Given the description of an element on the screen output the (x, y) to click on. 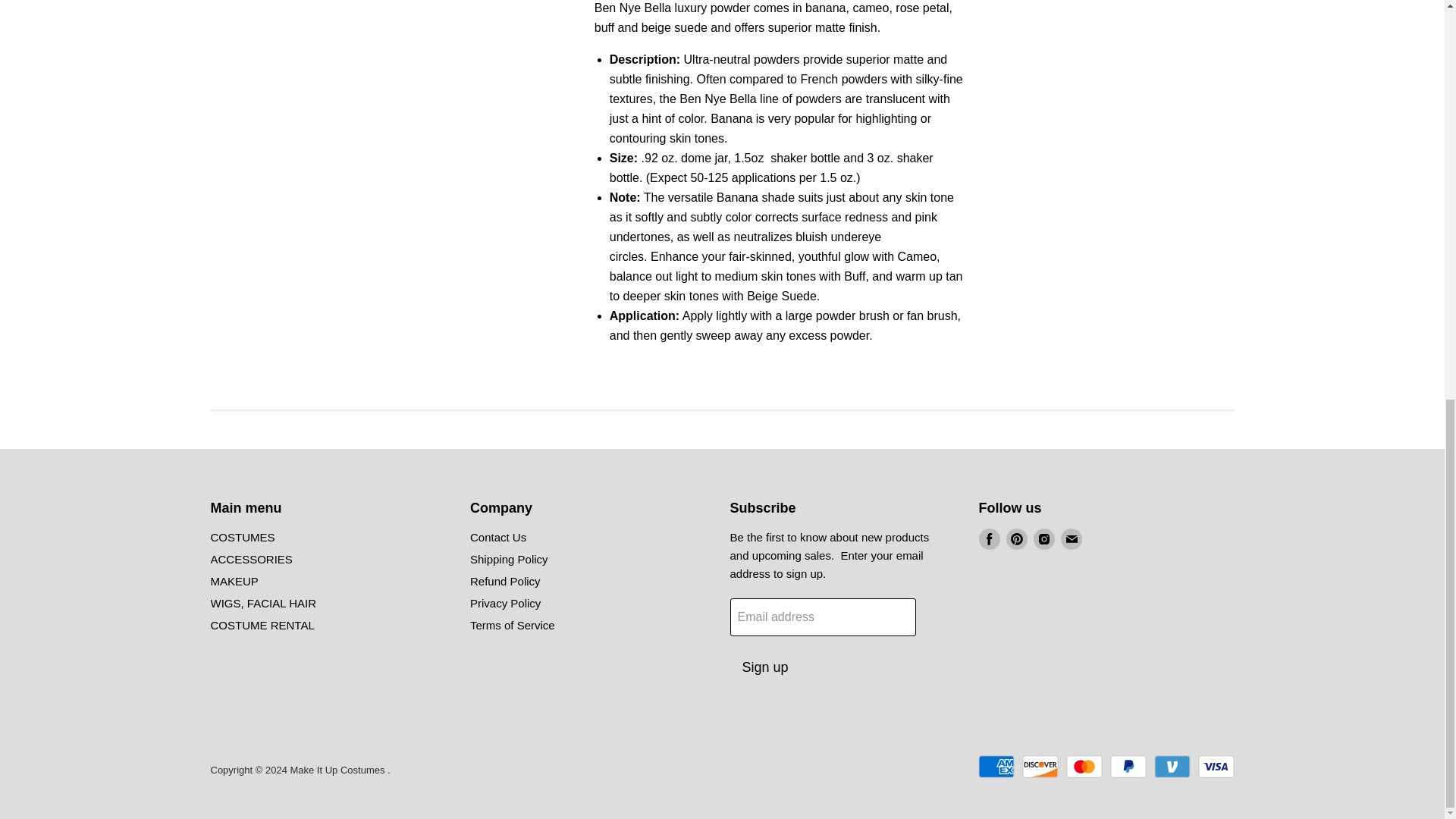
Pinterest (1016, 538)
Instagram (1043, 538)
Discover (1040, 766)
E-mail (1070, 538)
American Express (996, 766)
Facebook (989, 538)
Mastercard (1083, 766)
